Given the description of an element on the screen output the (x, y) to click on. 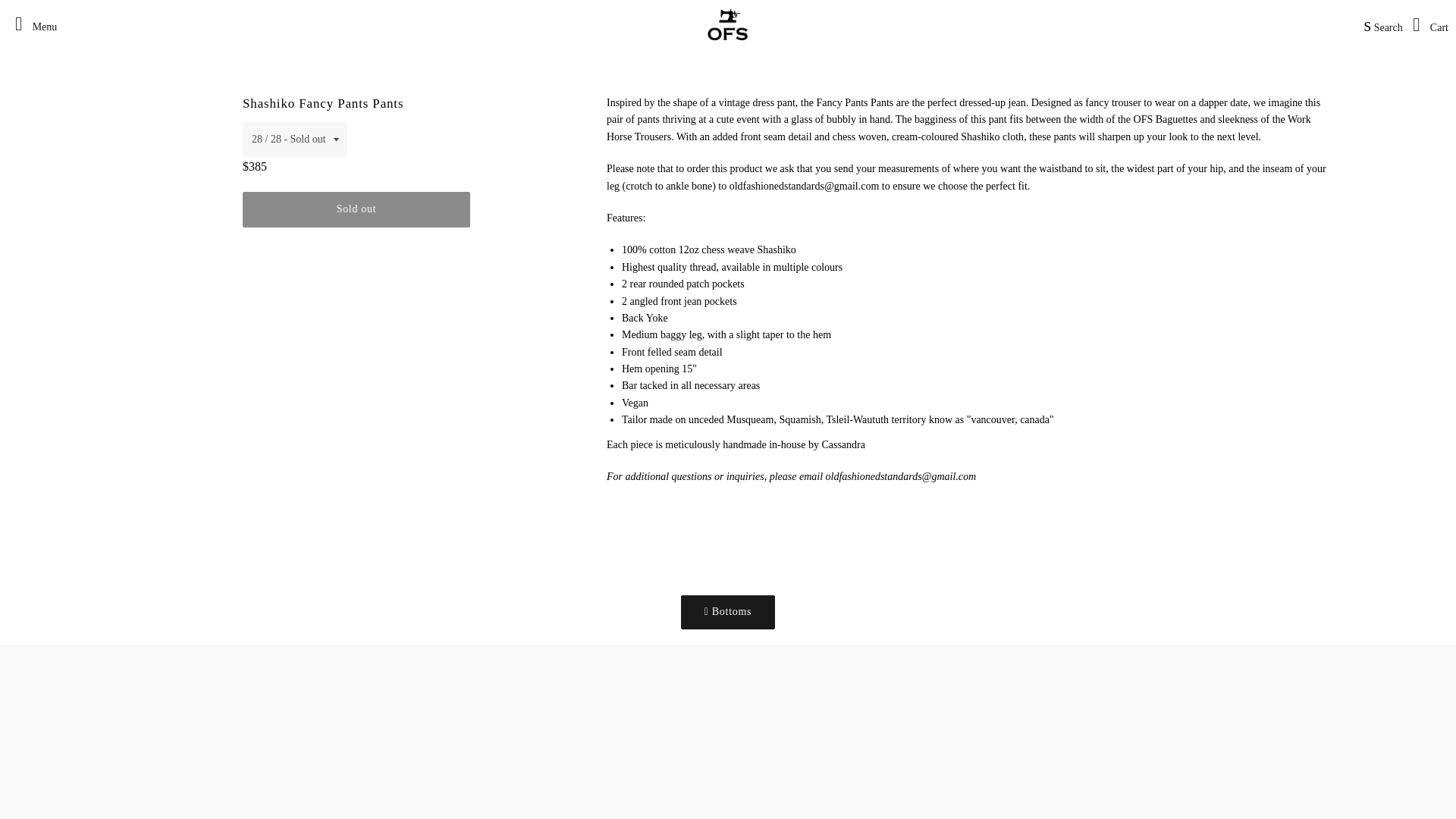
Menu (31, 24)
Bottoms (727, 611)
Search (1378, 23)
Cart (1426, 23)
Sold out (356, 209)
